Given the description of an element on the screen output the (x, y) to click on. 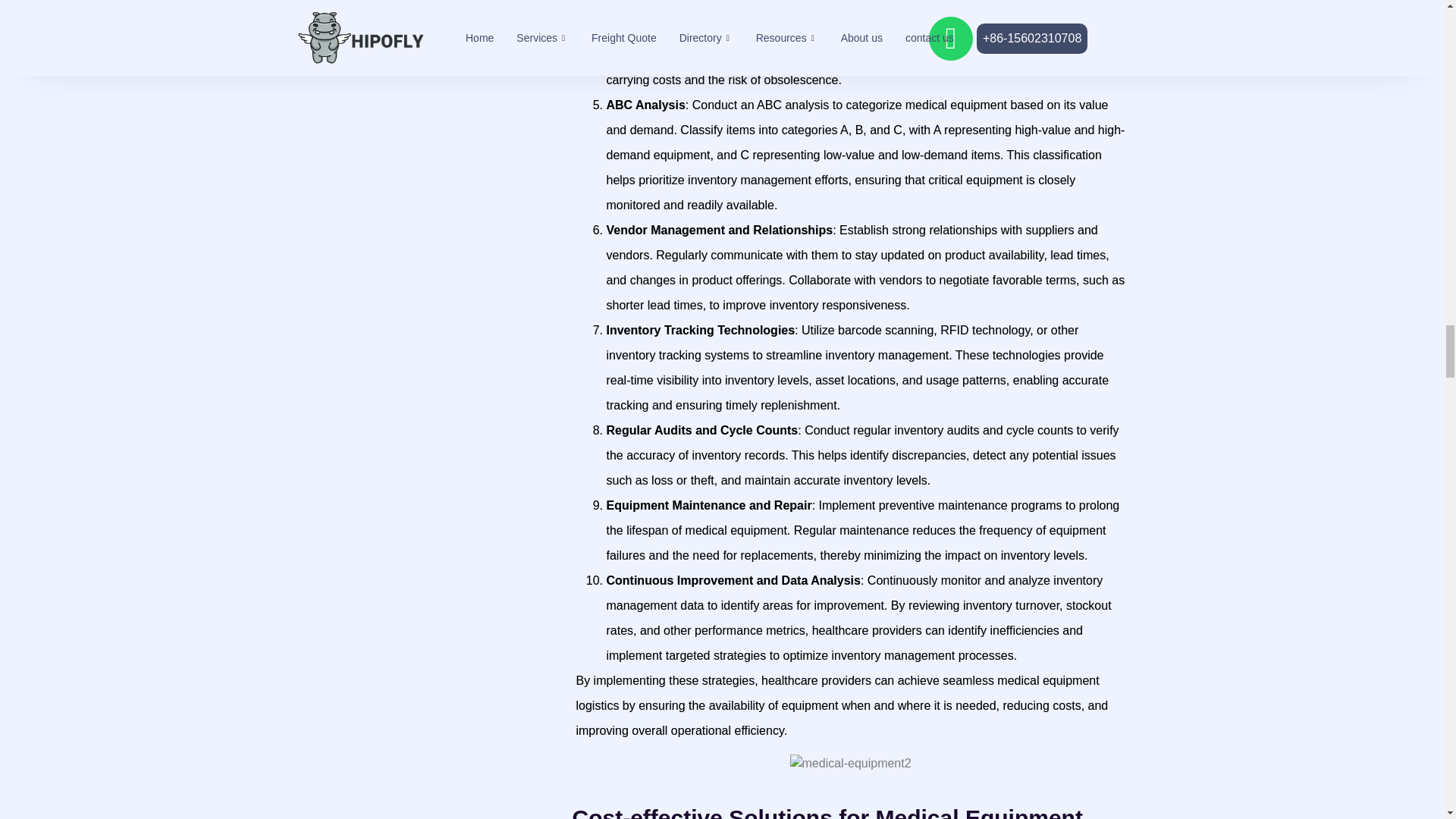
medical-equipment2 (850, 763)
